Given the description of an element on the screen output the (x, y) to click on. 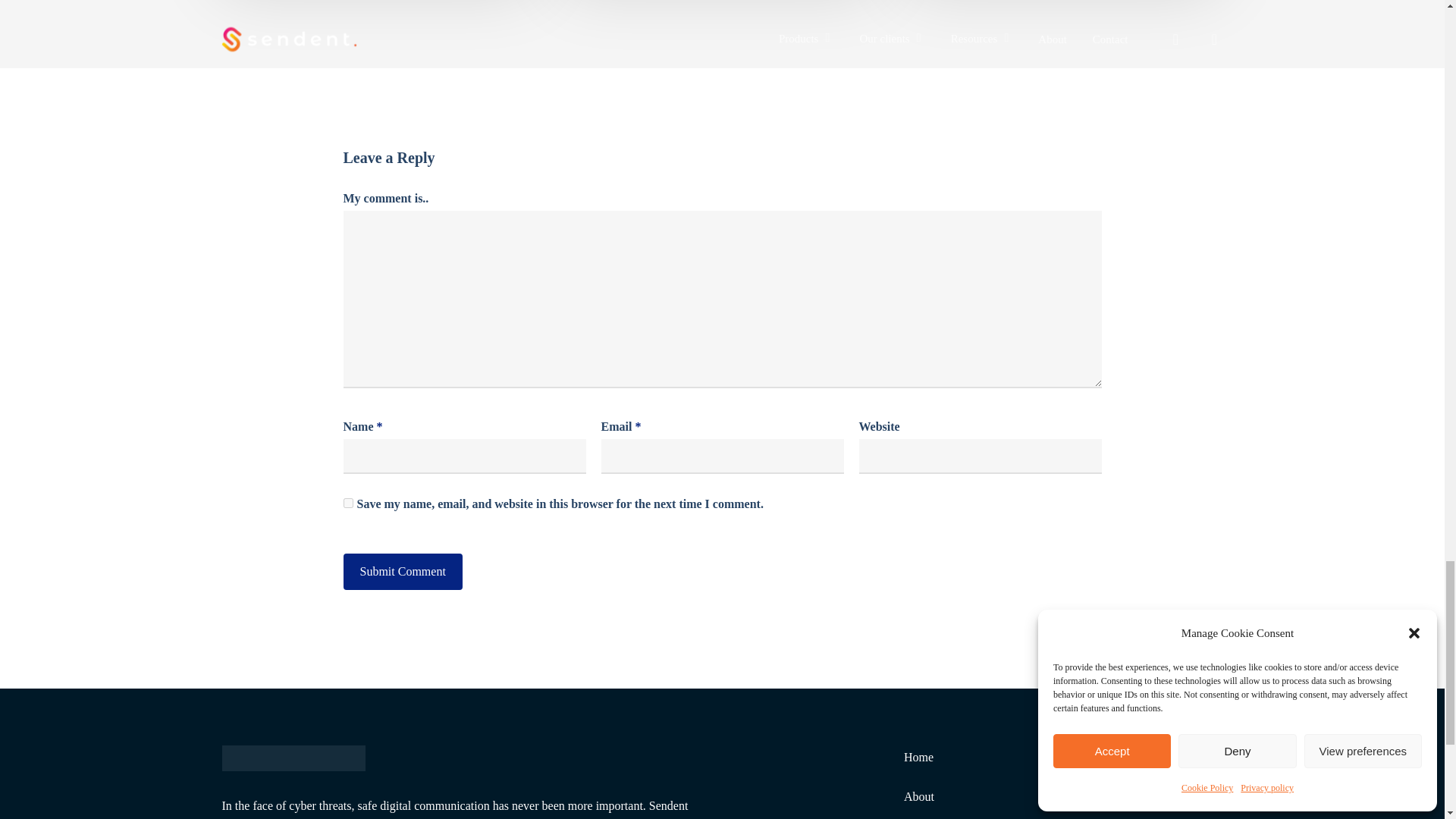
yes (347, 502)
Submit Comment (401, 571)
